Given the description of an element on the screen output the (x, y) to click on. 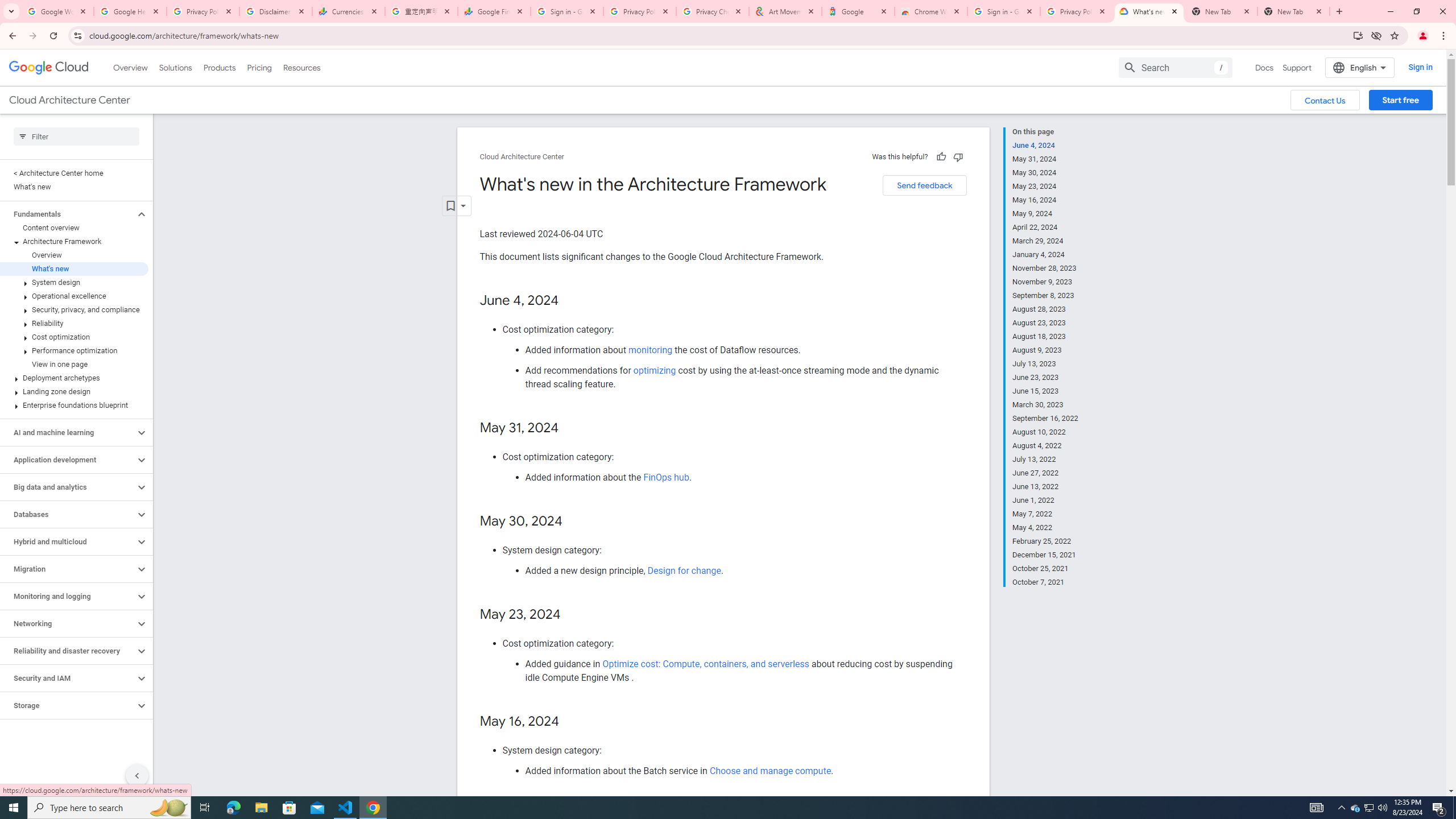
August 18, 2023 (1044, 336)
Hybrid and multicloud (67, 541)
April 22, 2024 (1044, 227)
Monitoring and logging (67, 596)
September 16, 2022 (1044, 418)
May 31, 2024 (1044, 159)
Security and IAM (67, 678)
optimizing (654, 370)
Enterprise foundations blueprint (74, 404)
Chrome Web Store - Color themes by Chrome (930, 11)
monitoring (649, 349)
June 1, 2022 (1044, 499)
